Given the description of an element on the screen output the (x, y) to click on. 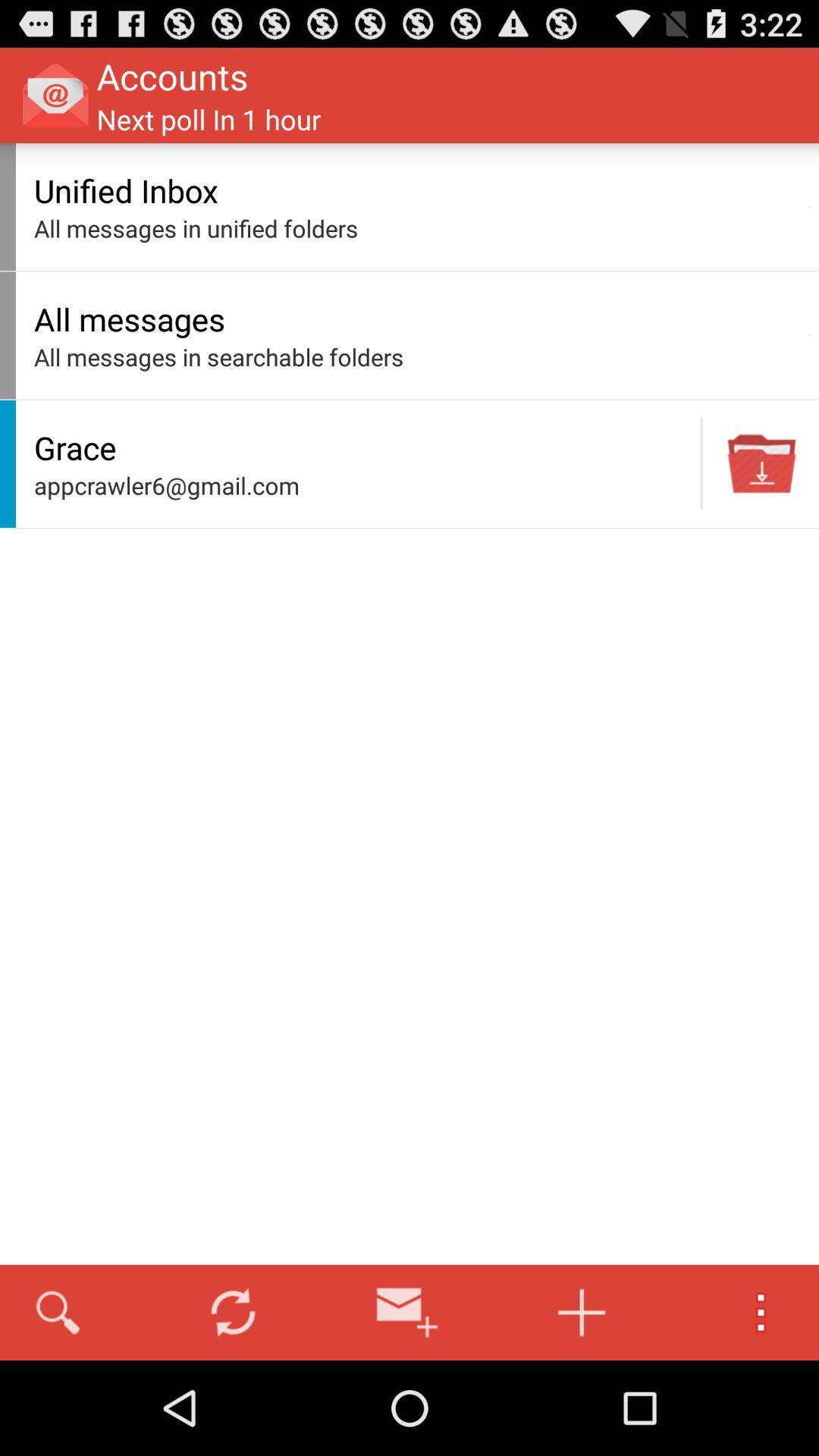
swipe until the appcrawler6@gmail.com (363, 485)
